Given the description of an element on the screen output the (x, y) to click on. 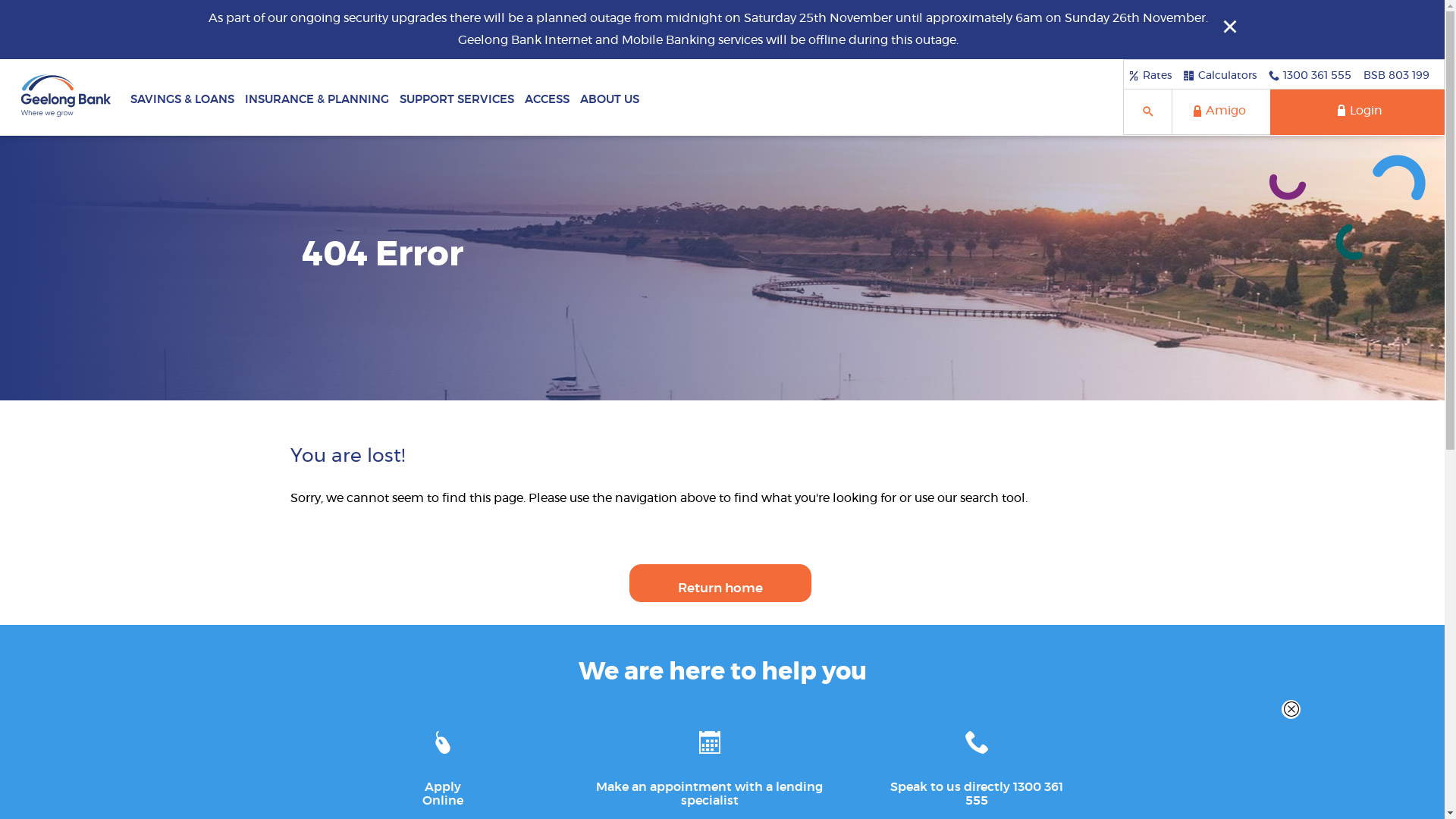
SAVINGS & LOANS Element type: text (182, 96)
Rates Element type: text (1149, 74)
SUPPORT SERVICES Element type: text (456, 96)
Return home Element type: text (720, 583)
Calculators Element type: text (1219, 74)
ABOUT US Element type: text (609, 96)
Login Element type: text (1357, 111)
BSB 803 199 Element type: text (1396, 74)
Make an appointment with a lending specialist Element type: text (709, 763)
1300 361 555 Element type: text (1309, 74)
Apply Online Element type: text (442, 763)
Amigo Element type: text (1220, 111)
ACCESS Element type: text (546, 96)
Yes Element type: text (4, 4)
Speak to us directly 1300 361 555 Element type: text (976, 763)
INSURANCE & PLANNING Element type: text (316, 96)
